Given the description of an element on the screen output the (x, y) to click on. 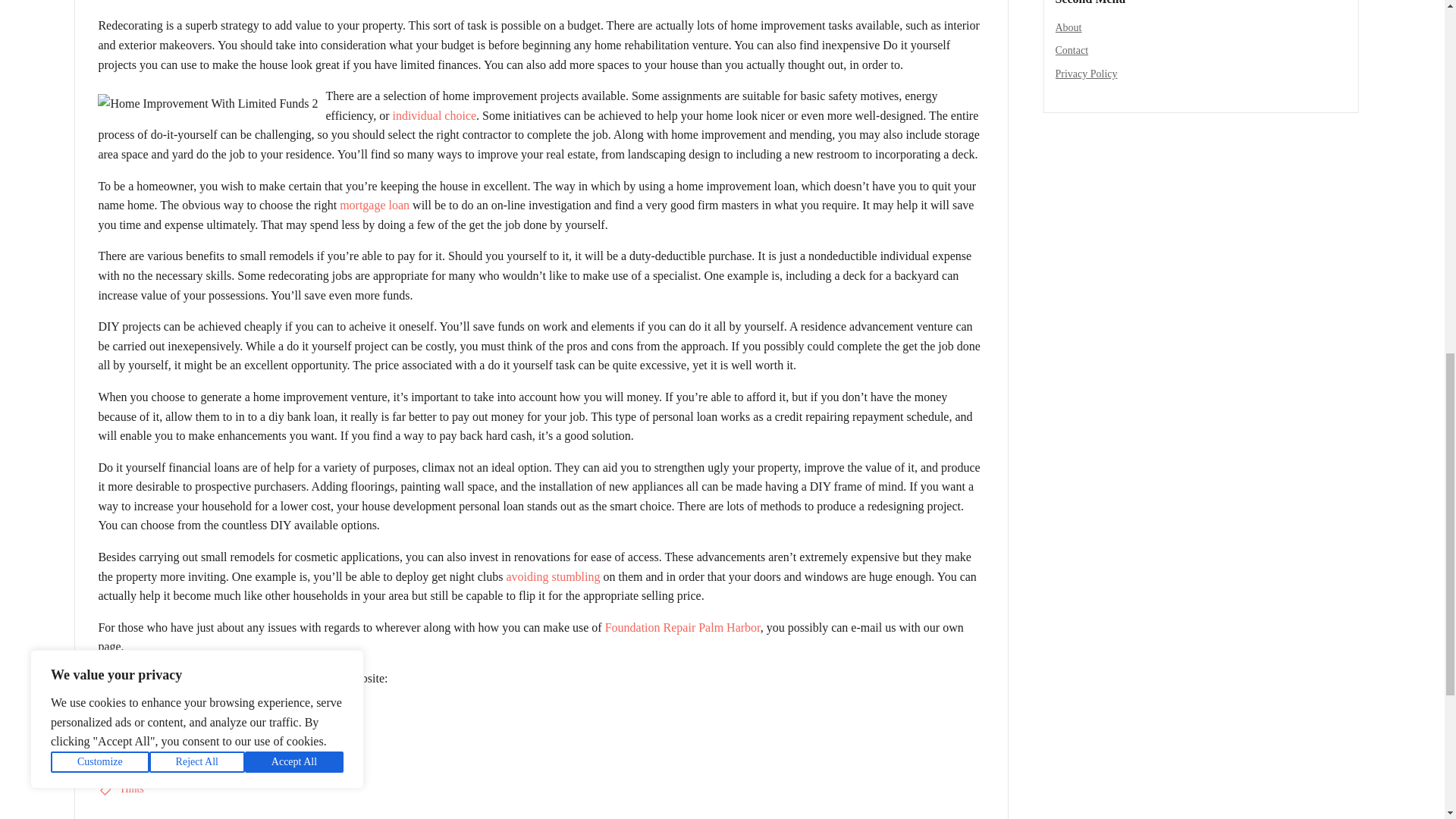
admin (119, 0)
individual choice (433, 115)
Hints (131, 789)
This Webpage (132, 740)
Tag: Hints (131, 789)
Full Review (127, 709)
Foundation Repair Palm Harbor (682, 626)
mortgage loan (374, 205)
avoiding stumbling (552, 576)
